Given the description of an element on the screen output the (x, y) to click on. 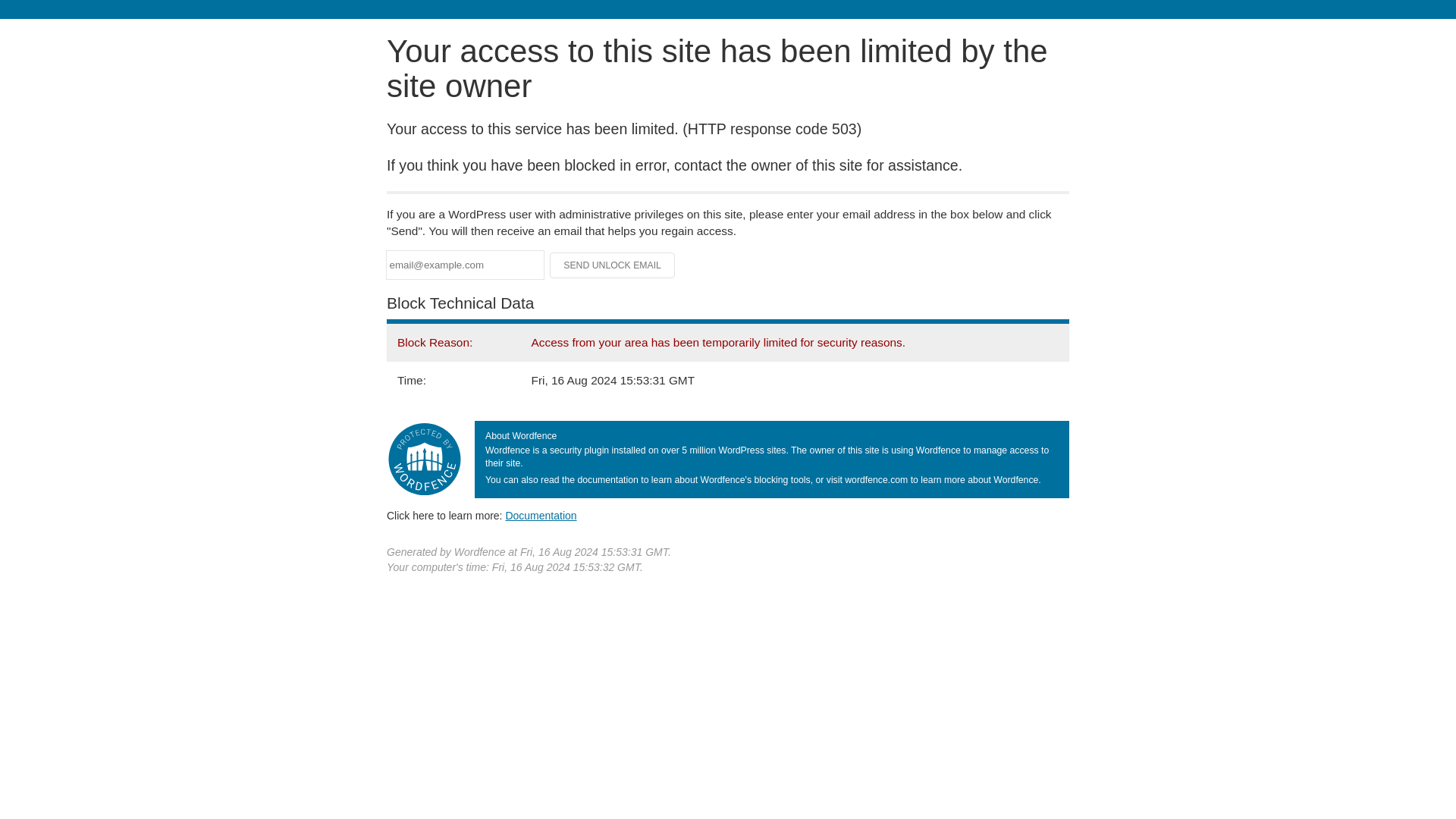
Send Unlock Email (612, 265)
Send Unlock Email (612, 265)
Documentation (540, 515)
